Given the description of an element on the screen output the (x, y) to click on. 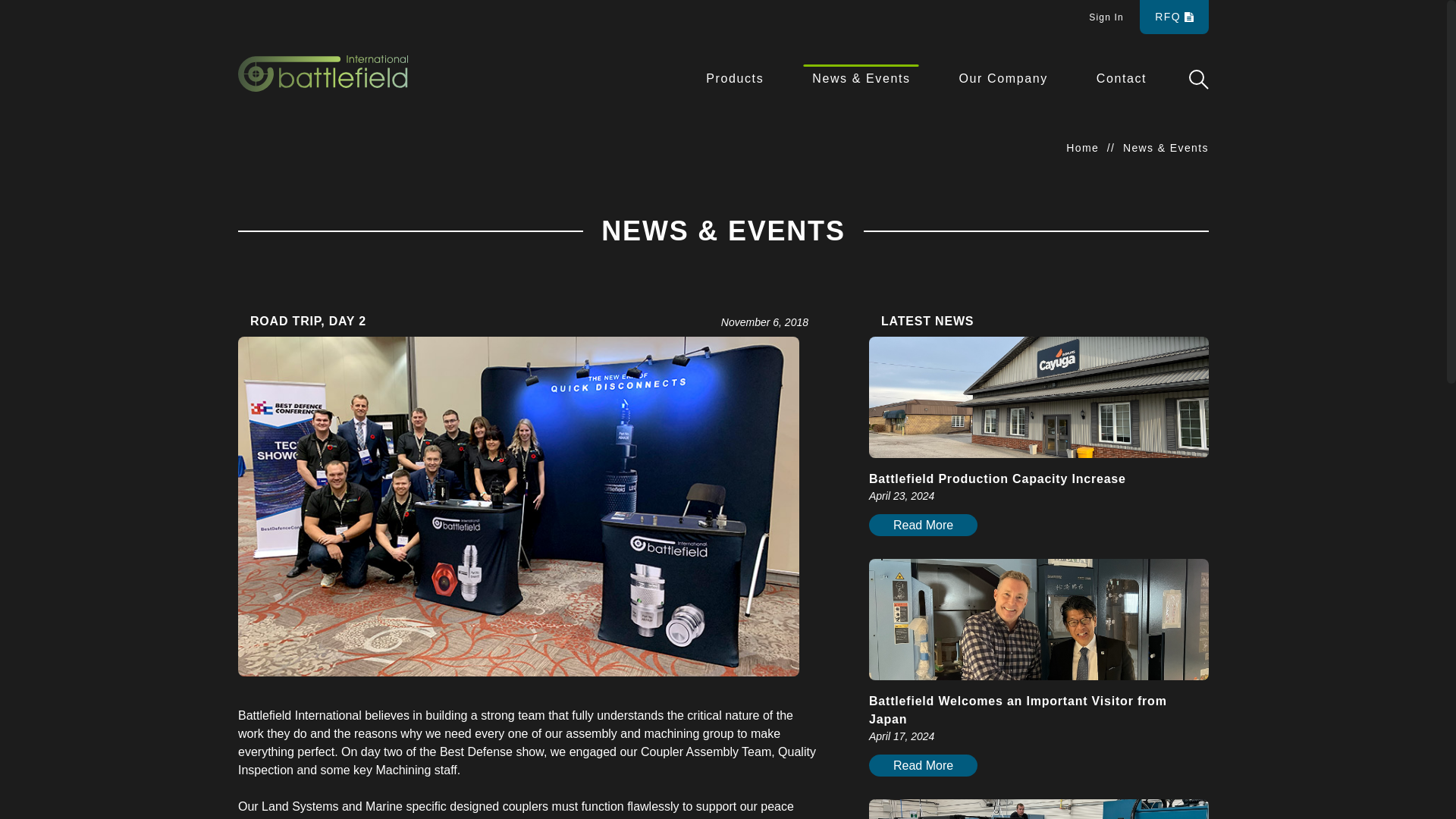
Servo Savers (380, 613)
Privacy Policy (799, 773)
Valves (364, 530)
Subscribe (1109, 525)
Read More (922, 525)
Battlefield Advantage (562, 530)
Control Linkages (1114, 714)
Quick Disconnects (388, 585)
Battlefield Equipped (392, 501)
Products (559, 585)
Contact (735, 78)
Filters (1121, 78)
Promotional Products (363, 558)
Careers (399, 642)
